Given the description of an element on the screen output the (x, y) to click on. 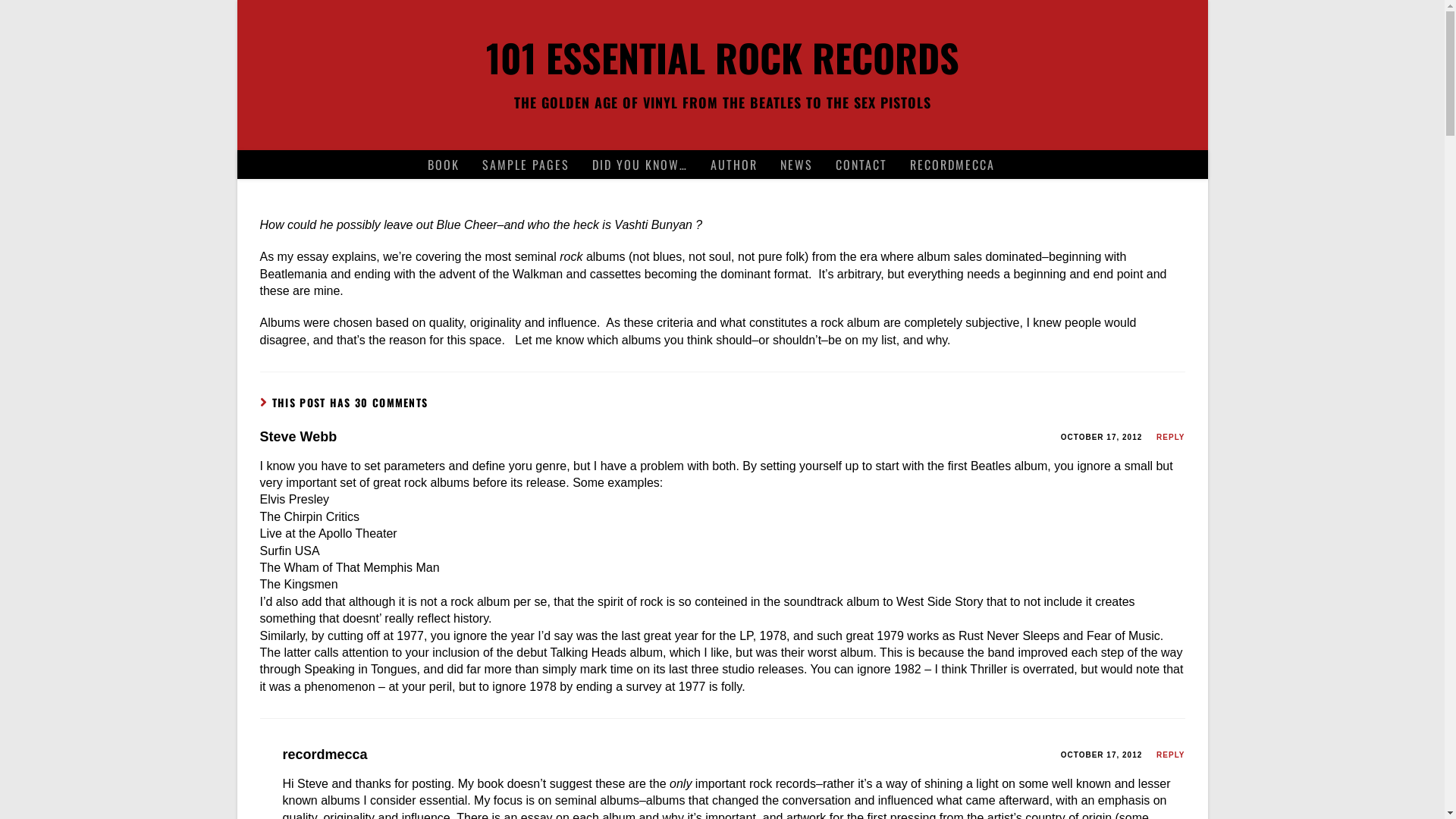
101 ESSENTIAL ROCK RECORDS Element type: text (721, 56)
NEWS Element type: text (796, 164)
REPLY Element type: text (1170, 437)
REPLY Element type: text (1170, 754)
AUTHOR Element type: text (733, 164)
SAMPLE PAGES Element type: text (525, 164)
RECORDMECCA Element type: text (951, 164)
CONTACT Element type: text (860, 164)
BOOK Element type: text (442, 164)
